Given the description of an element on the screen output the (x, y) to click on. 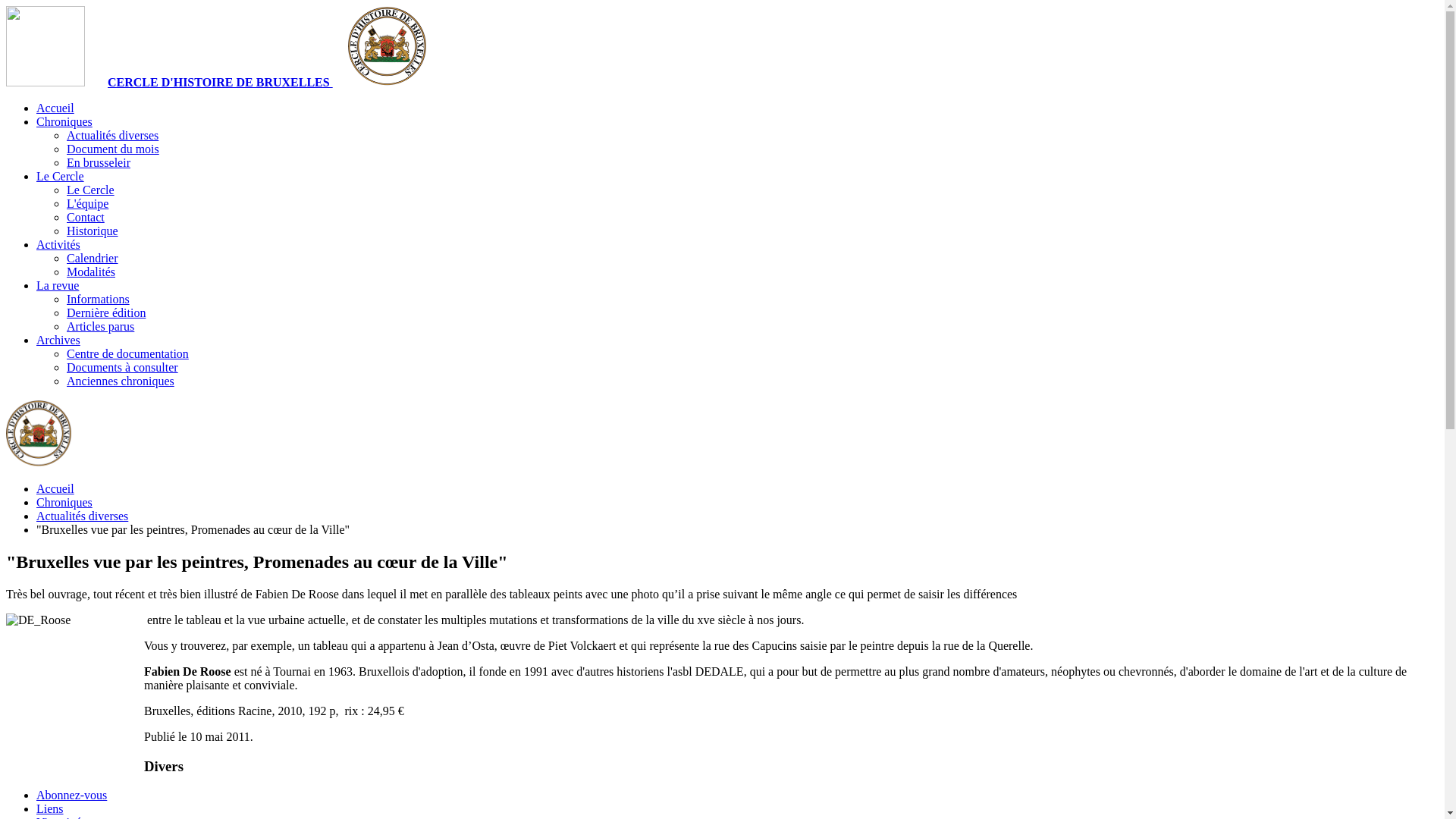
Chroniques Element type: text (64, 121)
CERCLE D'HISTOIRE DE BRUXELLES  Element type: text (722, 47)
Accueil Element type: text (55, 488)
Chroniques Element type: text (64, 501)
Anciennes chroniques Element type: text (120, 380)
Le Cercle Element type: text (90, 189)
Informations Element type: text (97, 298)
Document du mois Element type: text (112, 148)
Accueil Element type: text (55, 107)
Historique Element type: text (92, 230)
En brusseleir Element type: text (98, 162)
La revue Element type: text (57, 285)
Le Cercle Element type: text (60, 175)
Articles parus Element type: text (100, 326)
Archives Element type: text (58, 339)
Calendrier Element type: text (92, 257)
Liens Element type: text (49, 808)
Contact Element type: text (85, 216)
Centre de documentation Element type: text (127, 353)
Abonnez-vous Element type: text (71, 794)
